Given the description of an element on the screen output the (x, y) to click on. 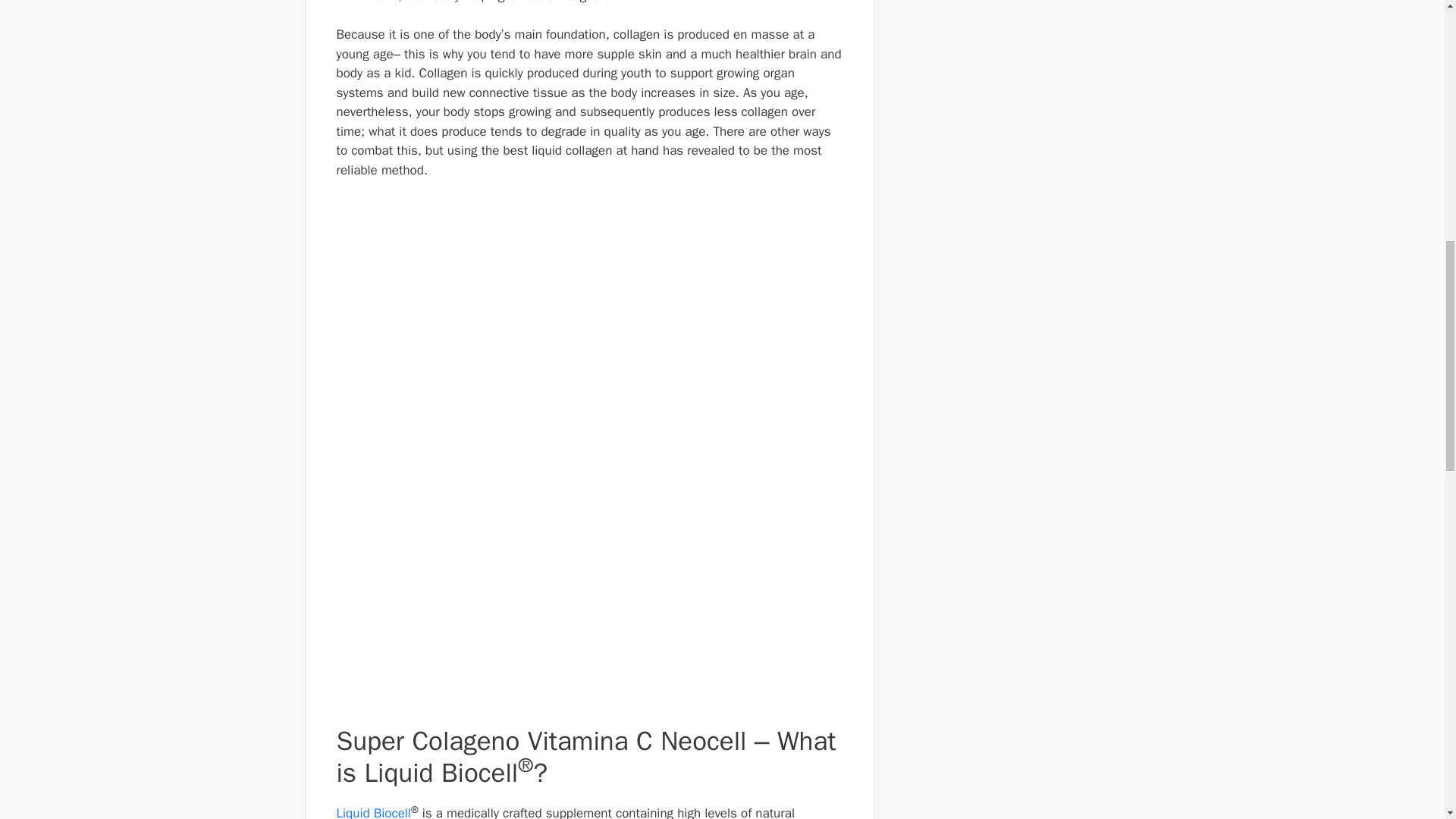
Liquid Biocell (373, 812)
